Given the description of an element on the screen output the (x, y) to click on. 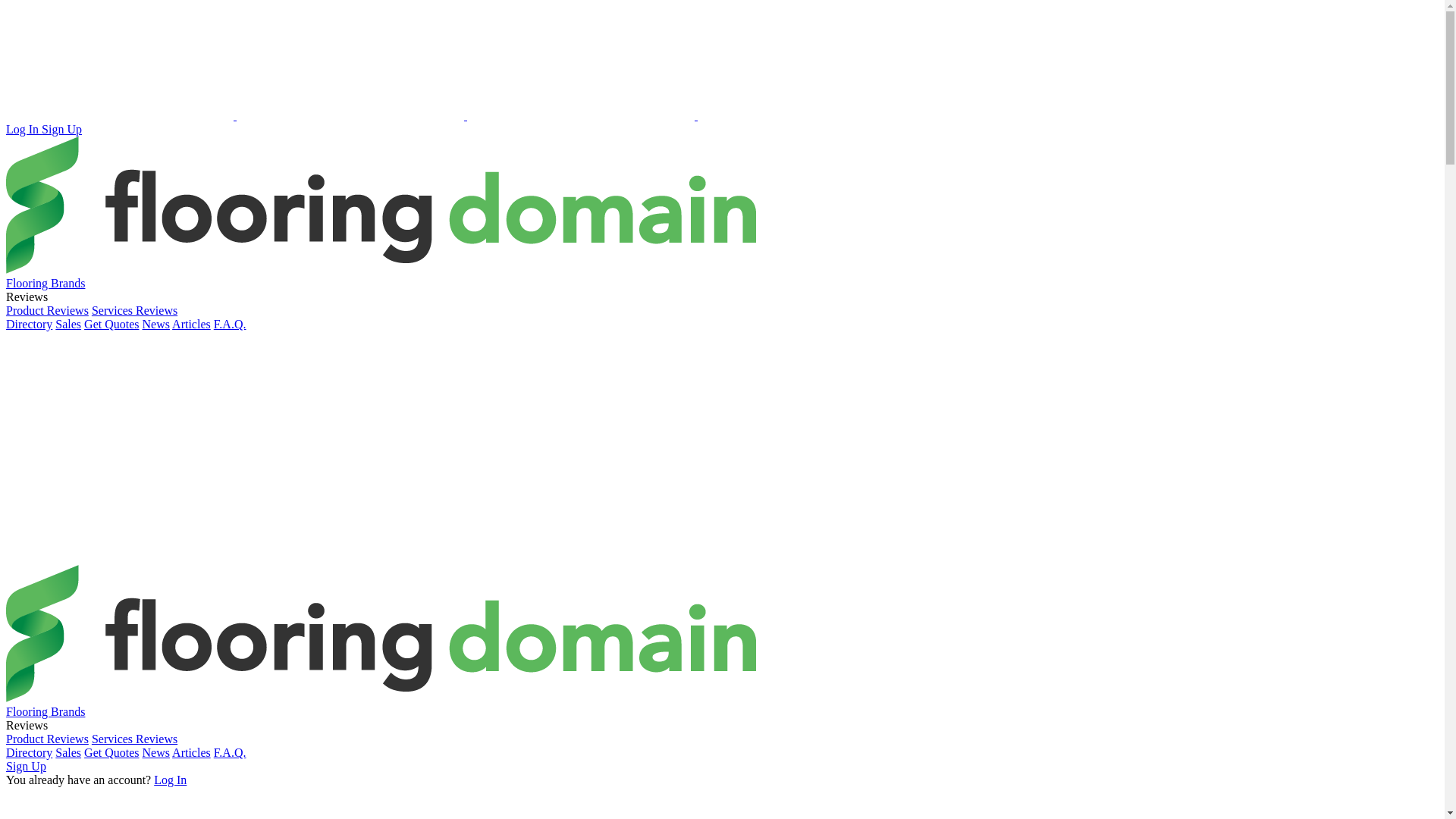
Log In Element type: text (23, 128)
Sign Up Element type: text (61, 128)
Articles Element type: text (191, 323)
News Element type: text (155, 752)
Services Reviews Element type: text (134, 310)
Directory Element type: text (29, 323)
F.A.Q. Element type: text (229, 323)
Product Reviews Element type: text (47, 738)
Directory Element type: text (29, 752)
Get Quotes Element type: text (111, 752)
News Element type: text (155, 323)
Flooring Brands Element type: text (45, 282)
F.A.Q. Element type: text (229, 752)
Log In Element type: text (169, 779)
Get Quotes Element type: text (111, 323)
Product Reviews Element type: text (47, 310)
Services Reviews Element type: text (134, 738)
Articles Element type: text (191, 752)
Sales Element type: text (68, 752)
Flooring Brands Element type: text (45, 711)
Sign Up Element type: text (26, 765)
Sales Element type: text (68, 323)
